Given the description of an element on the screen output the (x, y) to click on. 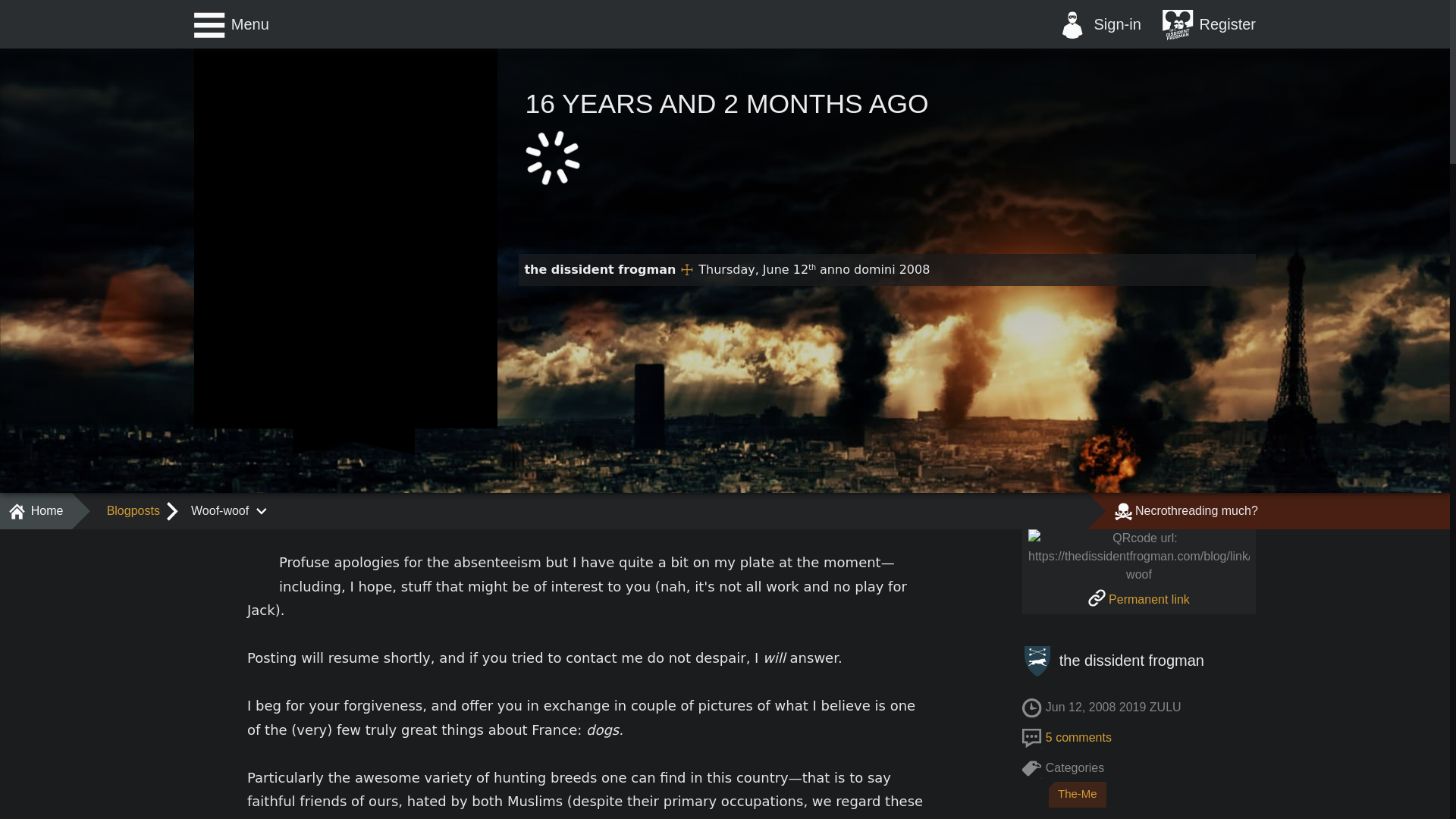
The-Me (1077, 794)
Menu (231, 24)
Permanent link (1138, 599)
Blogposts (133, 511)
Sign-in (1099, 24)
5 comments (1078, 737)
Home (35, 511)
QR Code data: permanent link (1138, 599)
Register (1208, 24)
